Given the description of an element on the screen output the (x, y) to click on. 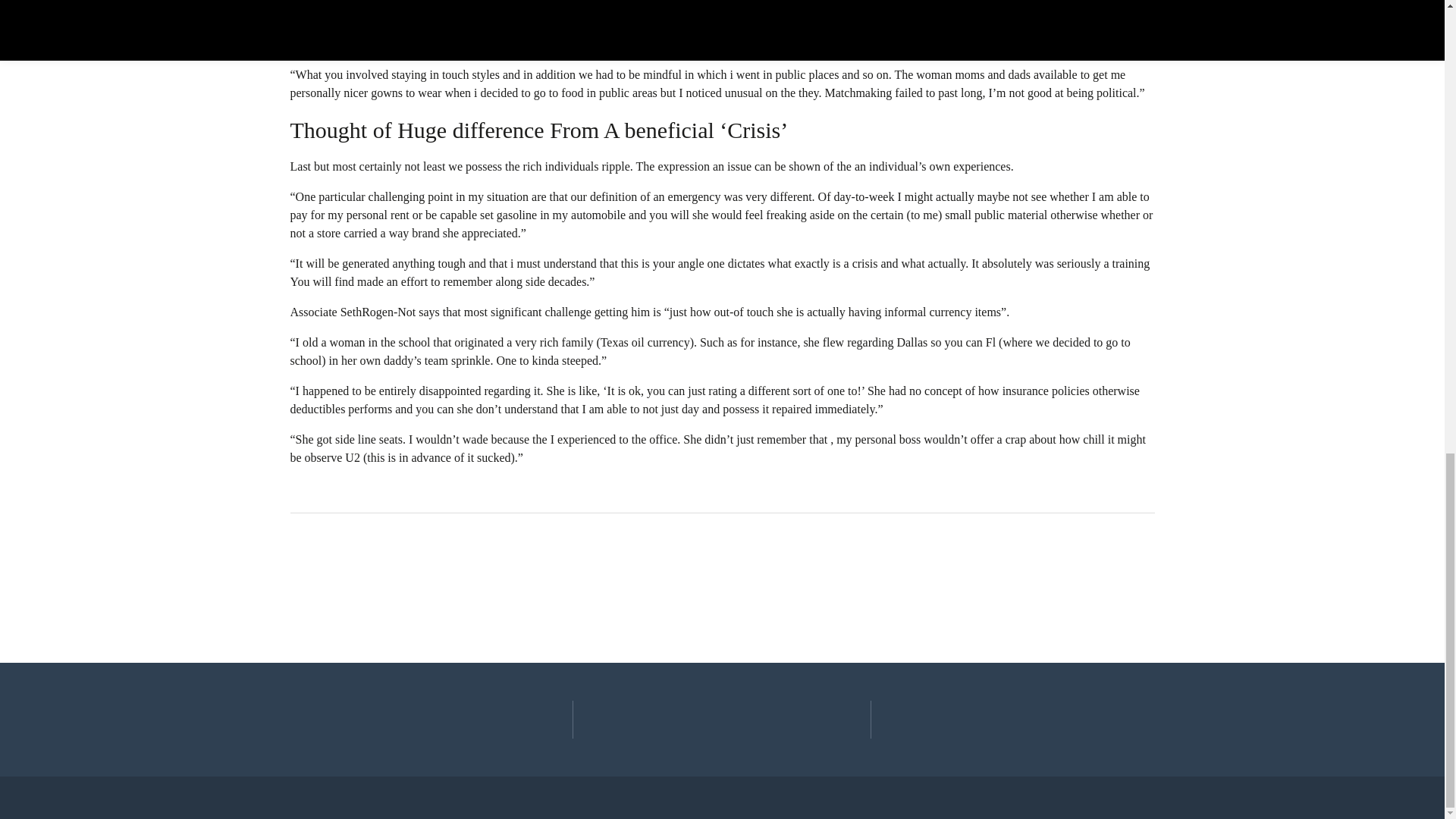
0 (306, 553)
